Given the description of an element on the screen output the (x, y) to click on. 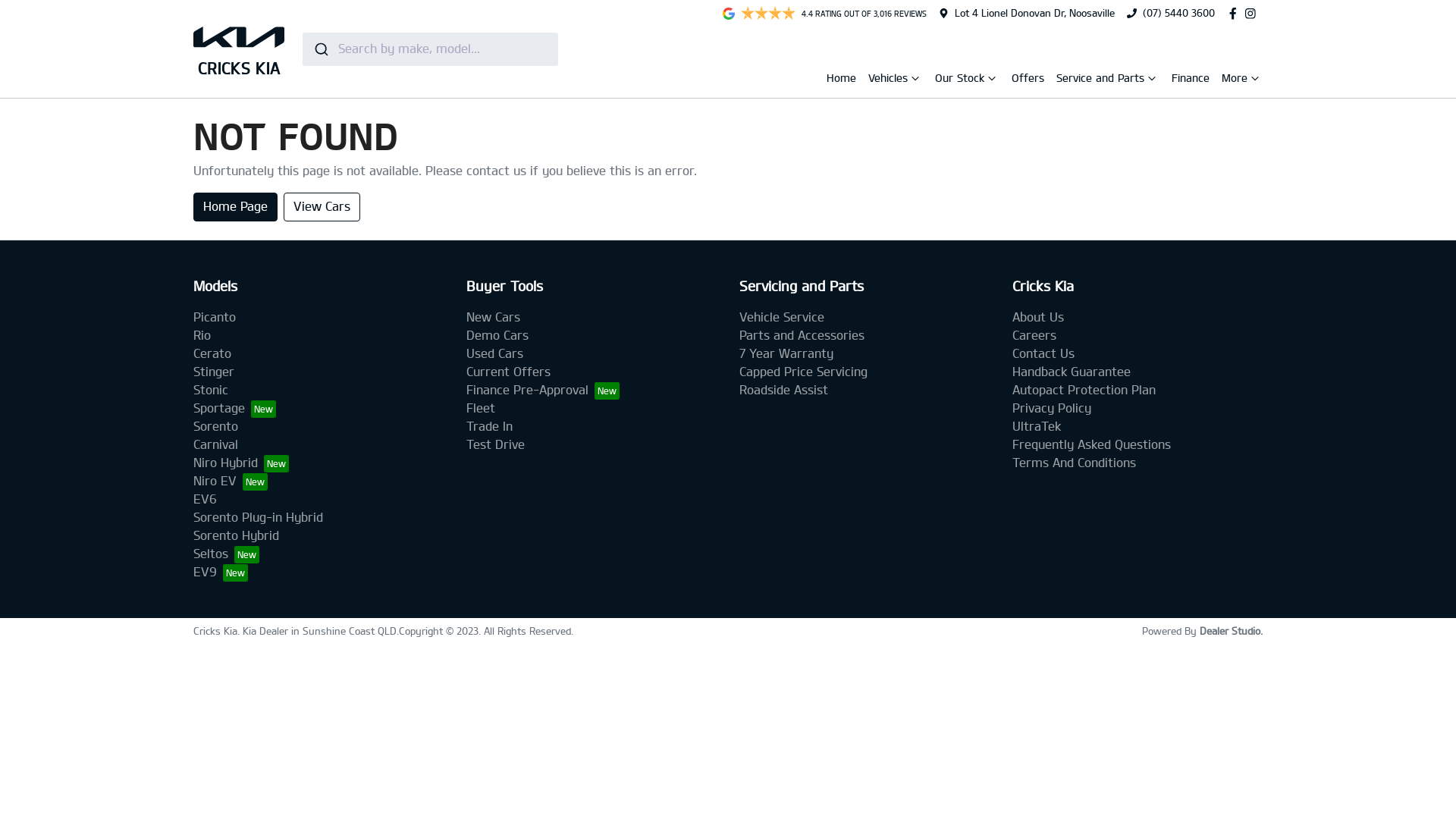
Stinger Element type: text (213, 371)
Careers Element type: text (1034, 335)
Our Stock Element type: text (960, 80)
Sorento Plug-in Hybrid Element type: text (258, 517)
(07) 5440 3600 Element type: text (1178, 12)
EV6 Element type: text (204, 499)
Privacy Policy Element type: text (1051, 408)
Carnival Element type: text (215, 444)
Lot 4 Lionel Donovan Dr, Noosaville Element type: text (1034, 12)
Parts and Accessories Element type: text (801, 335)
Vehicles Element type: text (889, 80)
Sportage Element type: text (234, 408)
Submit Element type: hover (320, 48)
Contact Us Element type: text (1043, 353)
Handback Guarantee Element type: text (1071, 371)
Demo Cars Element type: text (497, 335)
About Us Element type: text (1037, 317)
Sorento Hybrid Element type: text (236, 535)
Roadside Assist Element type: text (783, 389)
Offers Element type: text (1027, 77)
Stonic Element type: text (210, 389)
Vehicle Service Element type: text (781, 317)
Dealer Studio. Element type: text (1230, 631)
Home Element type: text (841, 77)
More Element type: text (1235, 80)
Niro Hybrid Element type: text (240, 462)
Fleet Element type: text (480, 408)
CRICKS KIA Element type: text (238, 48)
Seltos Element type: text (226, 553)
New Cars Element type: text (493, 317)
Service and Parts Element type: text (1101, 80)
Finance Pre-Approval Element type: text (542, 389)
Capped Price Servicing Element type: text (803, 371)
Trade In Element type: text (489, 426)
7 Year Warranty Element type: text (786, 353)
UltraTek Element type: text (1036, 426)
Rio Element type: text (201, 335)
View Cars Element type: text (321, 206)
Frequently Asked Questions Element type: text (1091, 444)
EV9 Element type: text (220, 571)
Current Offers Element type: text (508, 371)
Test Drive Element type: text (495, 444)
Terms And Conditions Element type: text (1073, 462)
Picanto Element type: text (214, 317)
Used Cars Element type: text (494, 353)
Sorento Element type: text (215, 426)
Niro EV Element type: text (230, 480)
Home Page Element type: text (235, 206)
Cerato Element type: text (212, 353)
Finance Element type: text (1190, 77)
Autopact Protection Plan Element type: text (1083, 389)
